Given the description of an element on the screen output the (x, y) to click on. 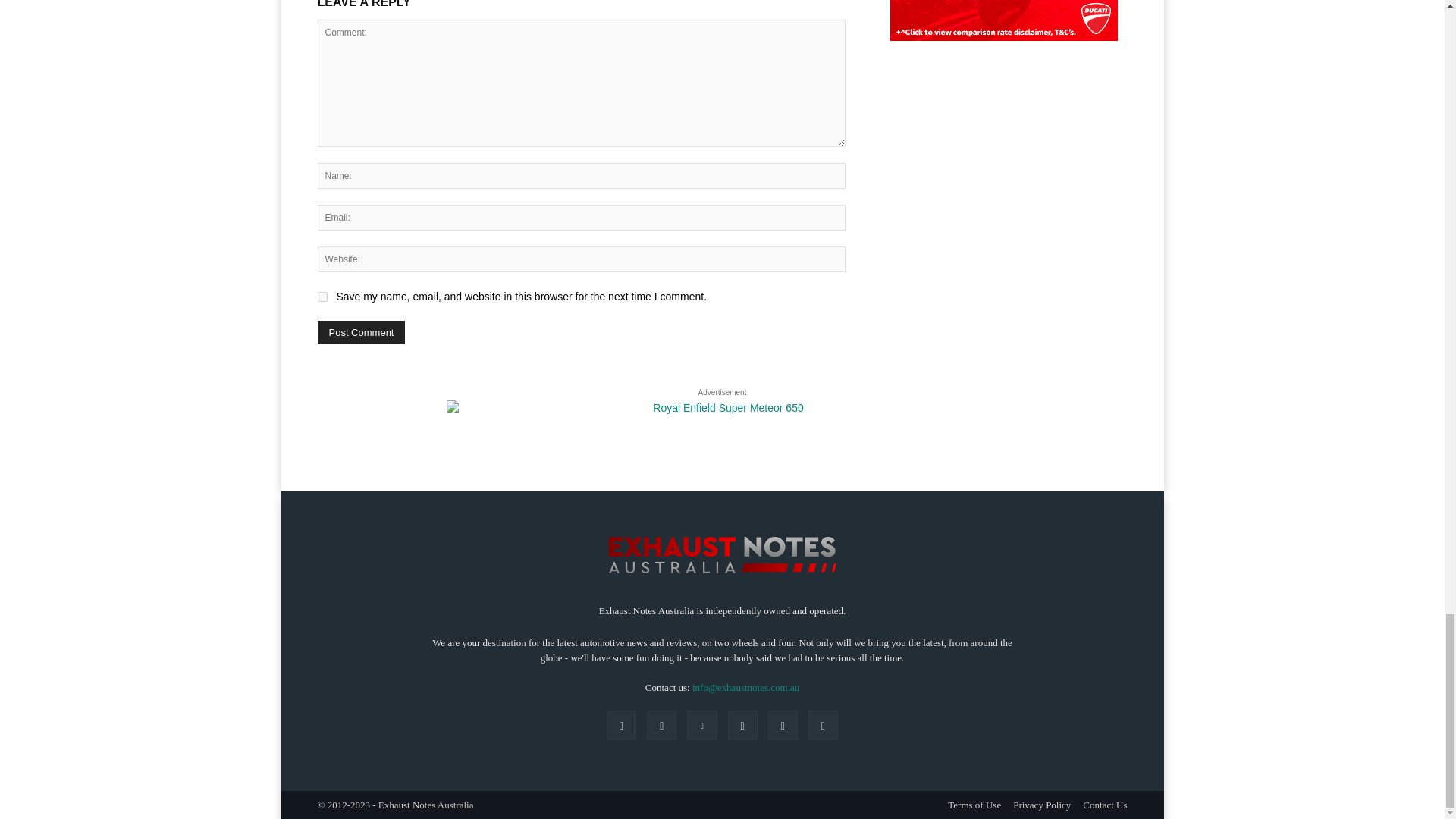
yes (321, 296)
Post Comment (360, 332)
